Given the description of an element on the screen output the (x, y) to click on. 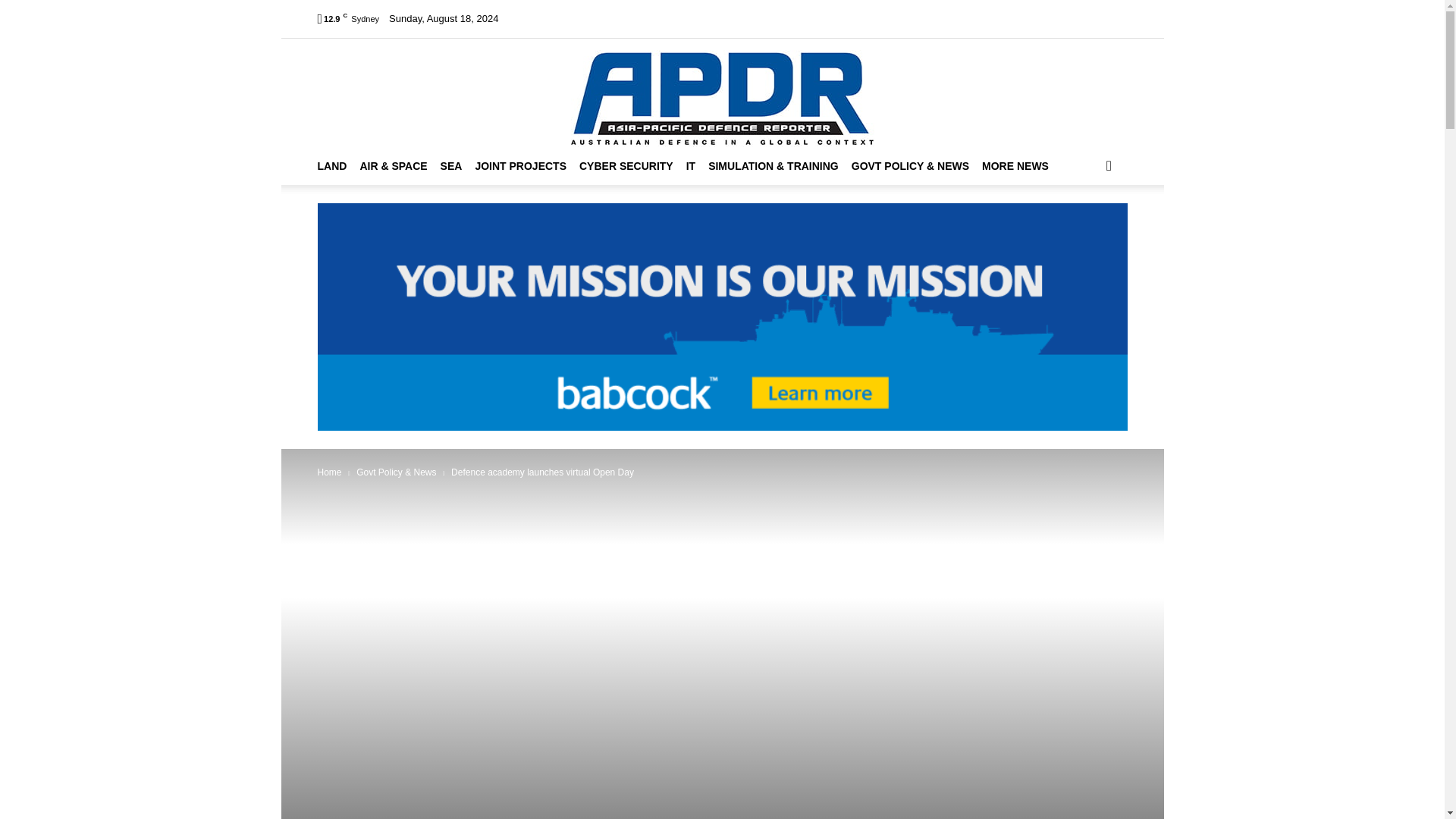
APDR (721, 92)
SEA (458, 166)
Advertising (871, 18)
About (573, 18)
Videos (699, 18)
Home (535, 18)
Subscribe (813, 18)
LAND (338, 166)
Contact (925, 18)
Events Calendar (634, 18)
